Given the description of an element on the screen output the (x, y) to click on. 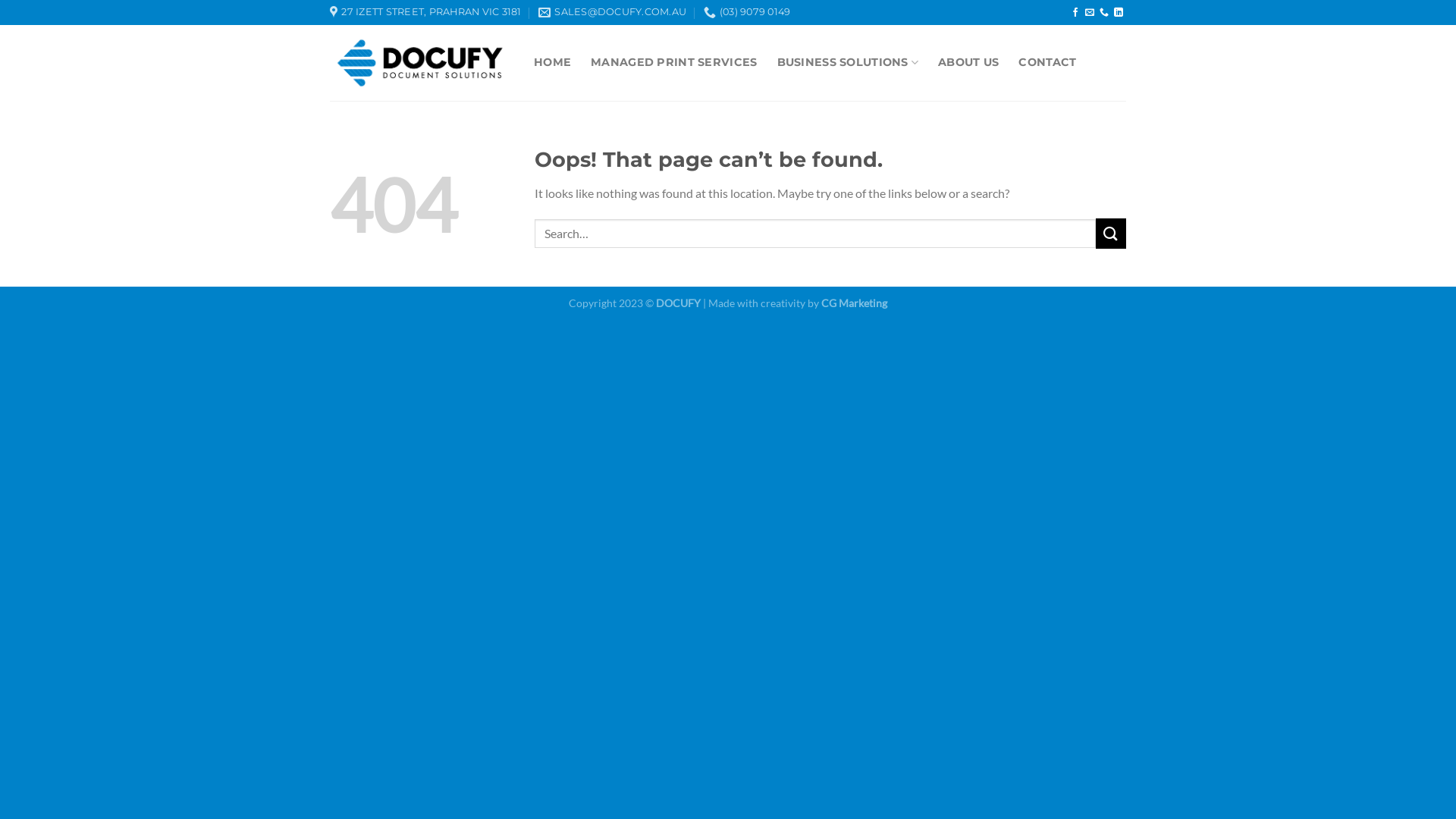
CG Marketing Element type: text (854, 302)
MANAGED PRINT SERVICES Element type: text (673, 62)
SALES@DOCUFY.COM.AU Element type: text (612, 11)
ABOUT US Element type: text (968, 62)
CONTACT Element type: text (1047, 62)
Follow on Facebook Element type: hover (1074, 12)
Follow on LinkedIn Element type: hover (1118, 12)
Docufy - Document Solutions Element type: hover (420, 62)
Send us an email Element type: hover (1089, 12)
BUSINESS SOLUTIONS Element type: text (847, 62)
HOME Element type: text (552, 62)
27 IZETT STREET, PRAHRAN VIC 3181 Element type: text (425, 11)
(03) 9079 0149 Element type: text (746, 11)
Call us Element type: hover (1103, 12)
